Given the description of an element on the screen output the (x, y) to click on. 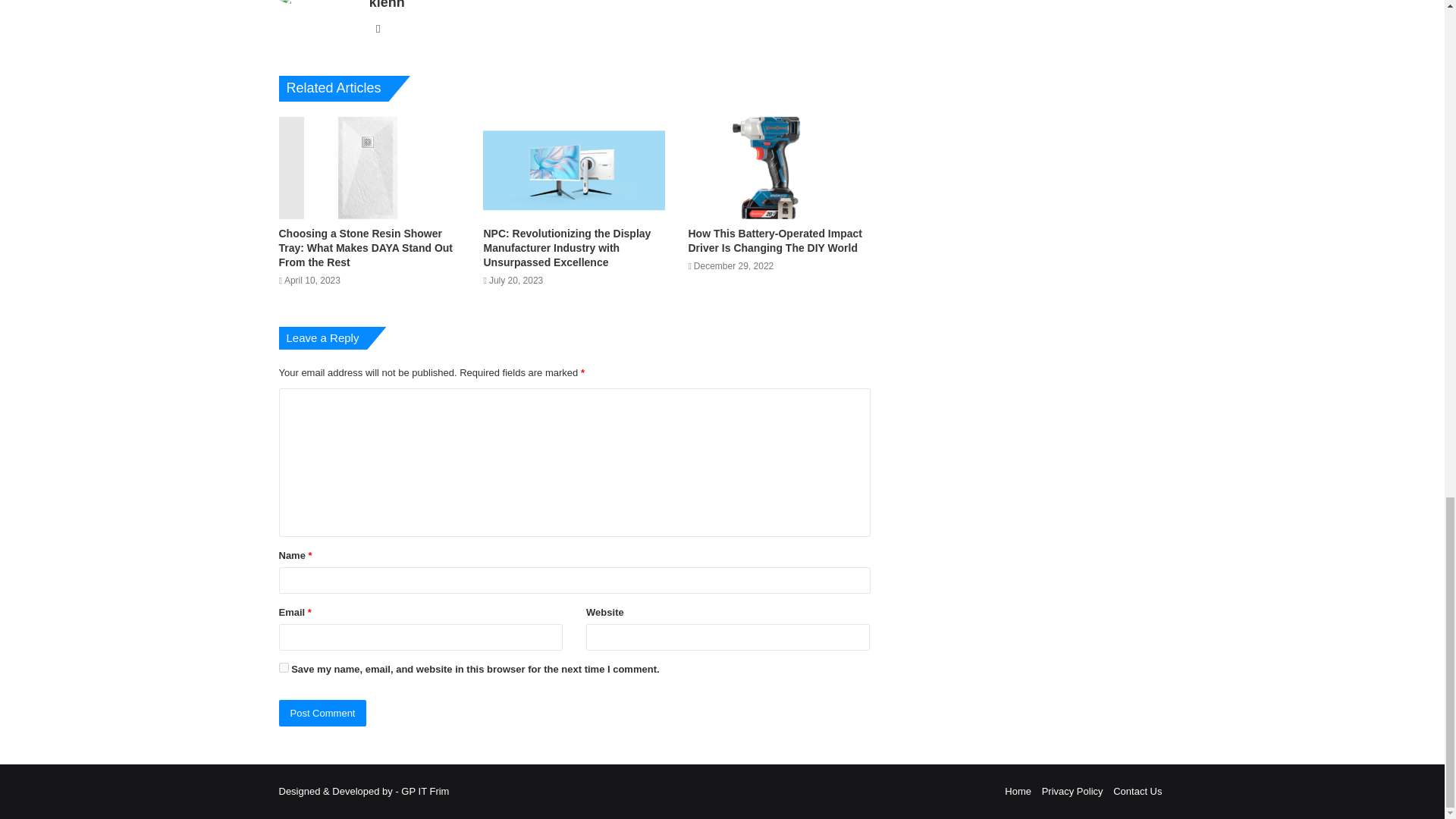
yes (283, 667)
Post Comment (322, 713)
Website (378, 28)
kienn (386, 4)
